Given the description of an element on the screen output the (x, y) to click on. 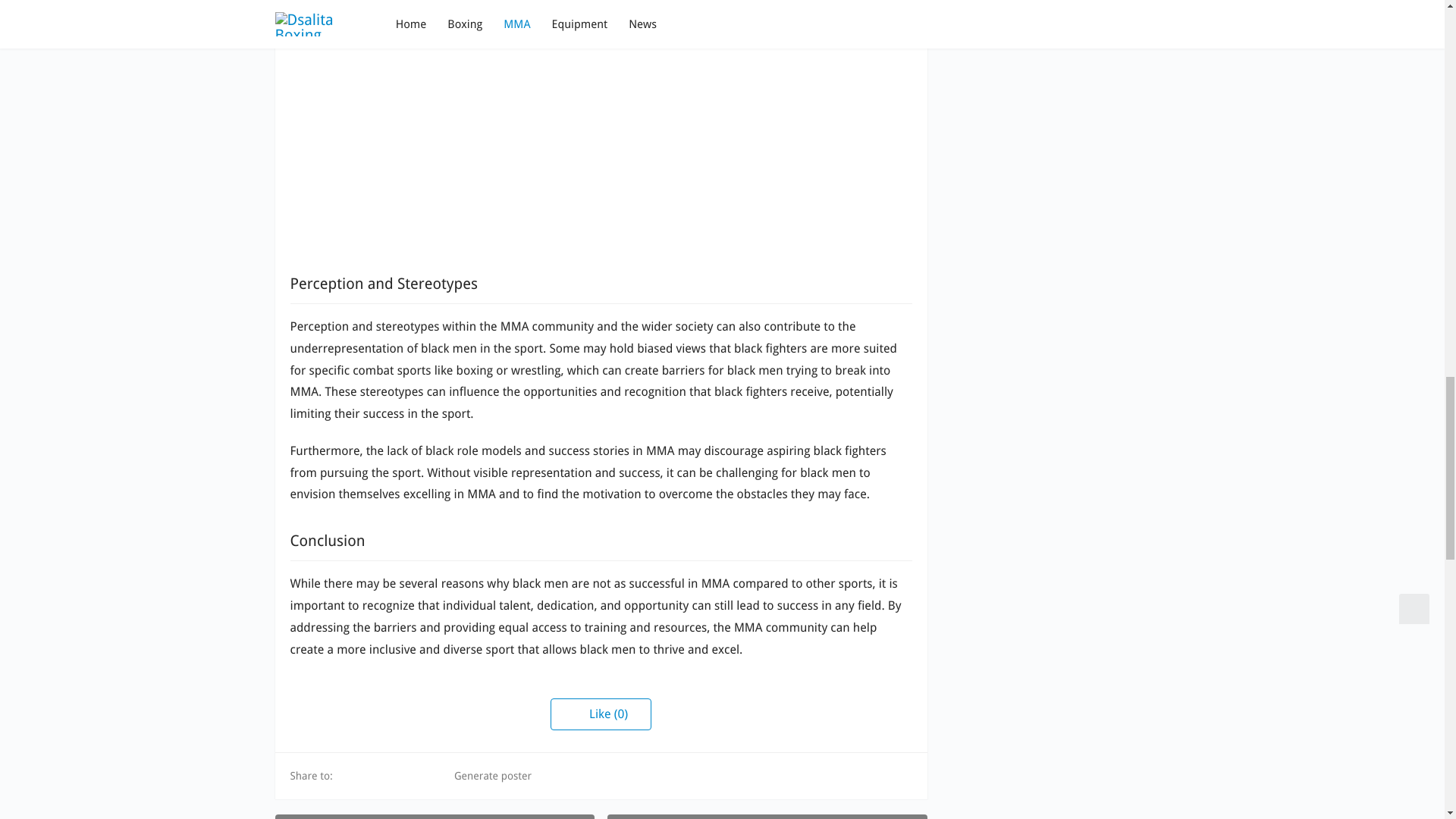
which statement is true about selling short against the box (766, 816)
Generate poster (483, 775)
why black men are not good at mma (601, 120)
who won the boxing match on saturday night (434, 816)
who won the boxing match on saturday night (434, 816)
which statement is true about selling short against the box (766, 816)
